Given the description of an element on the screen output the (x, y) to click on. 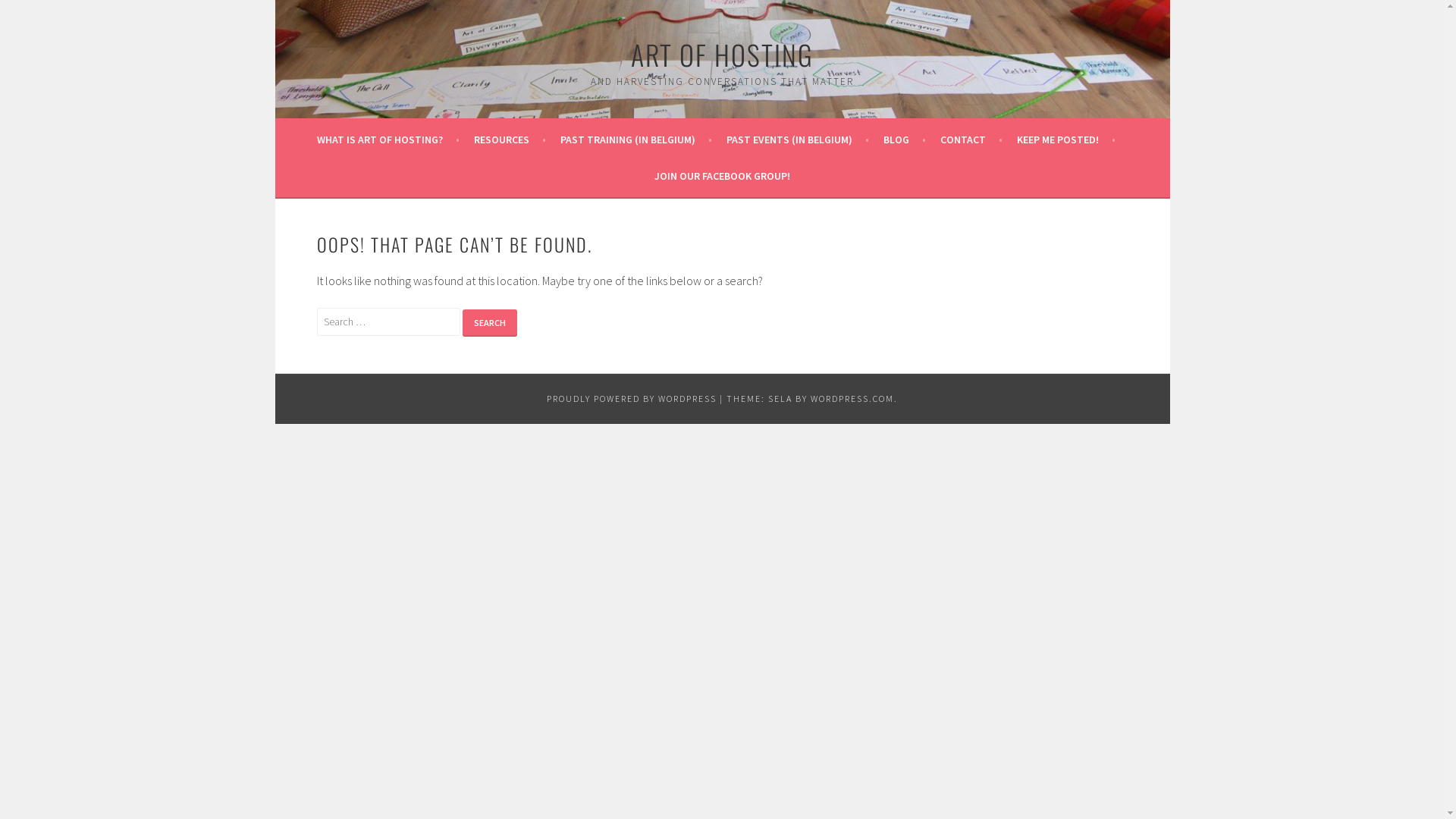
PAST EVENTS (IN BELGIUM) Element type: text (797, 139)
WORDPRESS.COM Element type: text (852, 398)
KEEP ME POSTED! Element type: text (1065, 139)
PAST TRAINING (IN BELGIUM) Element type: text (636, 139)
JOIN OUR FACEBOOK GROUP! Element type: text (722, 175)
WHAT IS ART OF HOSTING? Element type: text (387, 139)
ART OF HOSTING Element type: text (721, 54)
PROUDLY POWERED BY WORDPRESS Element type: text (631, 398)
Skip to content Element type: text (274, 0)
BLOG Element type: text (904, 139)
CONTACT Element type: text (971, 139)
RESOURCES Element type: text (509, 139)
Search Element type: text (489, 322)
